Given the description of an element on the screen output the (x, y) to click on. 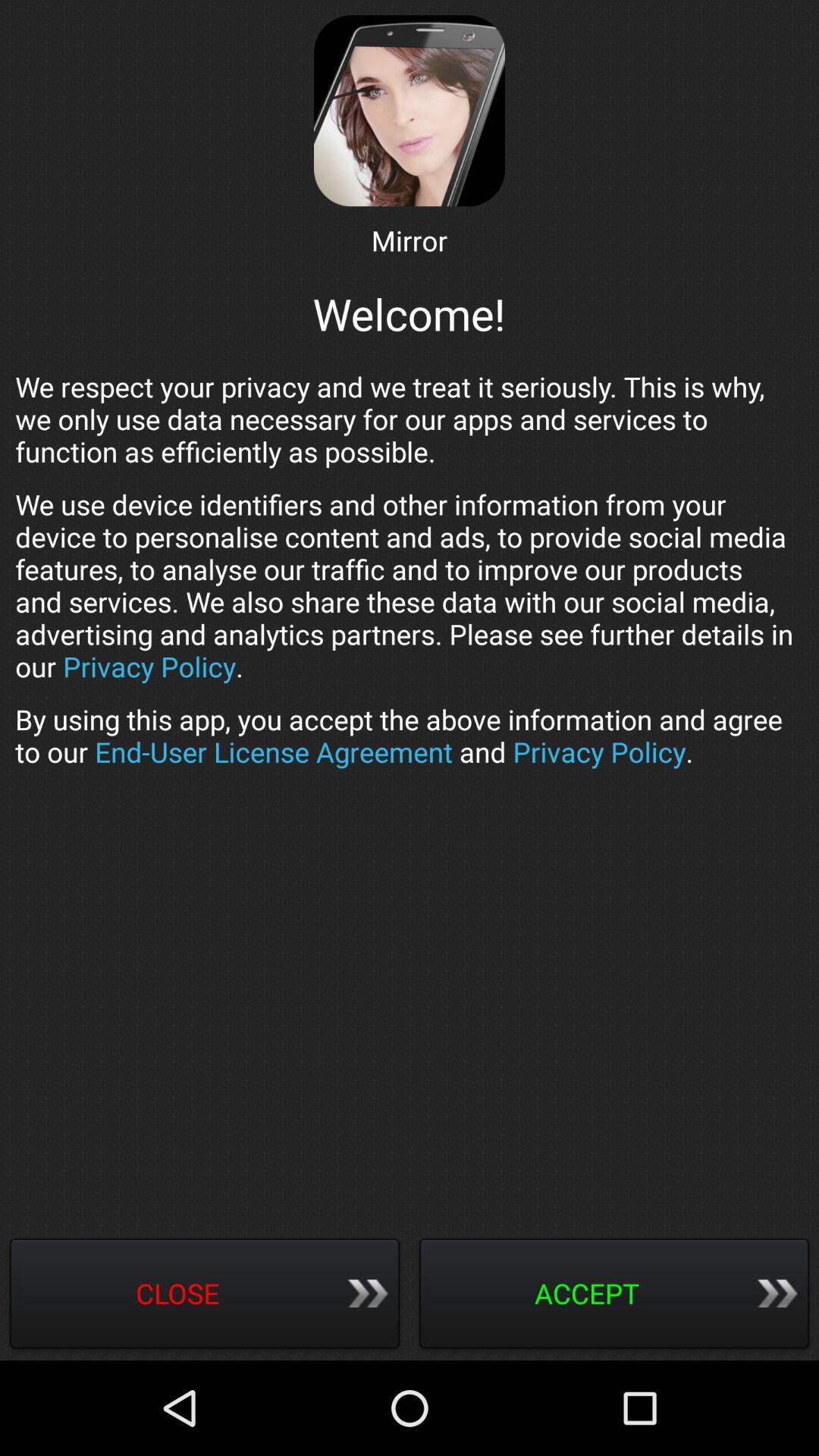
select item at the bottom left corner (204, 1295)
